Given the description of an element on the screen output the (x, y) to click on. 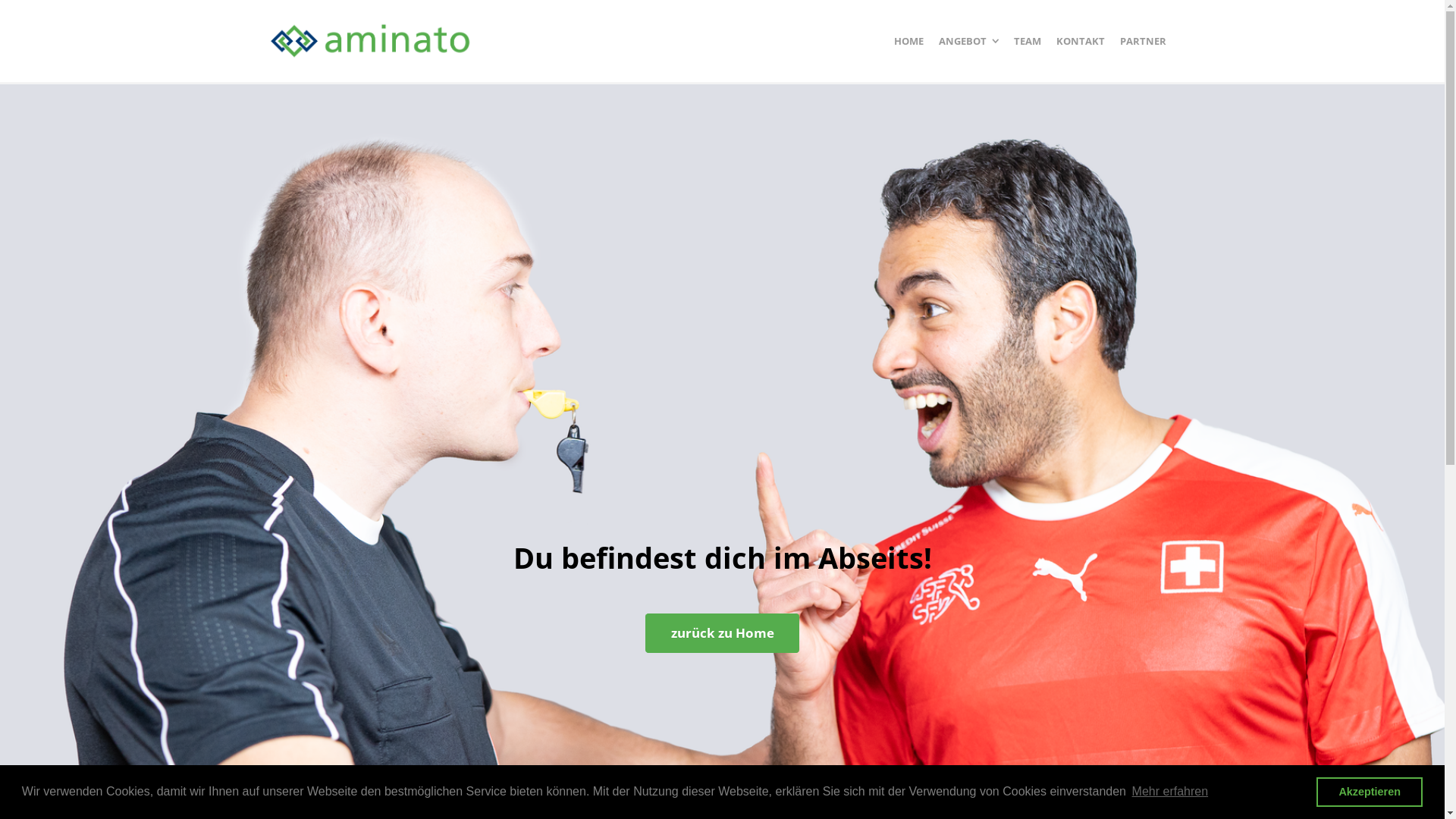
Akzeptieren Element type: text (1369, 791)
Mehr erfahren Element type: text (1169, 791)
